Given the description of an element on the screen output the (x, y) to click on. 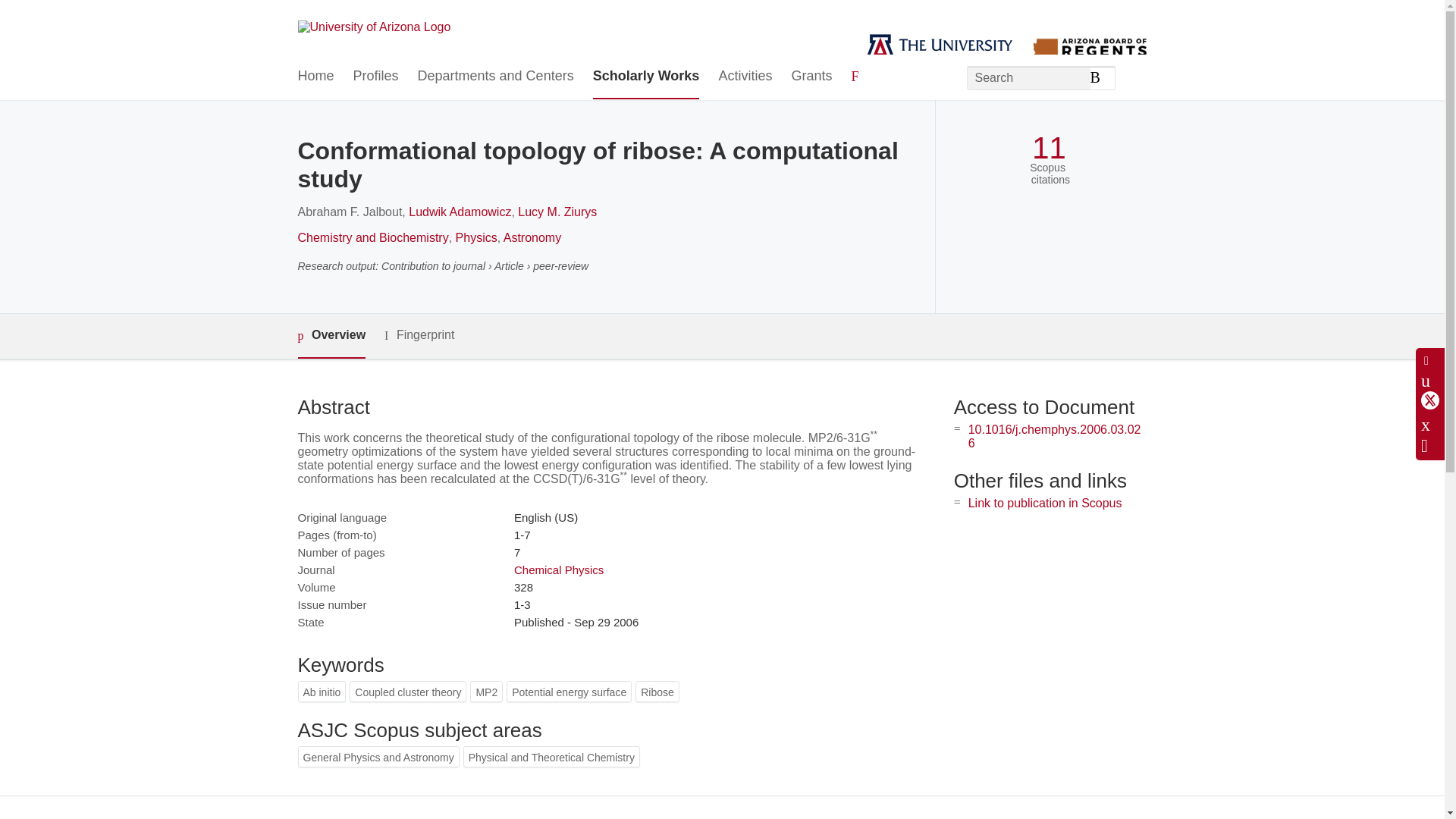
Astronomy (531, 237)
Scholarly Works (646, 76)
11 (1048, 148)
Overview (331, 335)
Activities (744, 76)
University of Arizona Home (373, 27)
Physics (476, 237)
Chemical Physics (558, 569)
Chemistry and Biochemistry (372, 237)
